Given the description of an element on the screen output the (x, y) to click on. 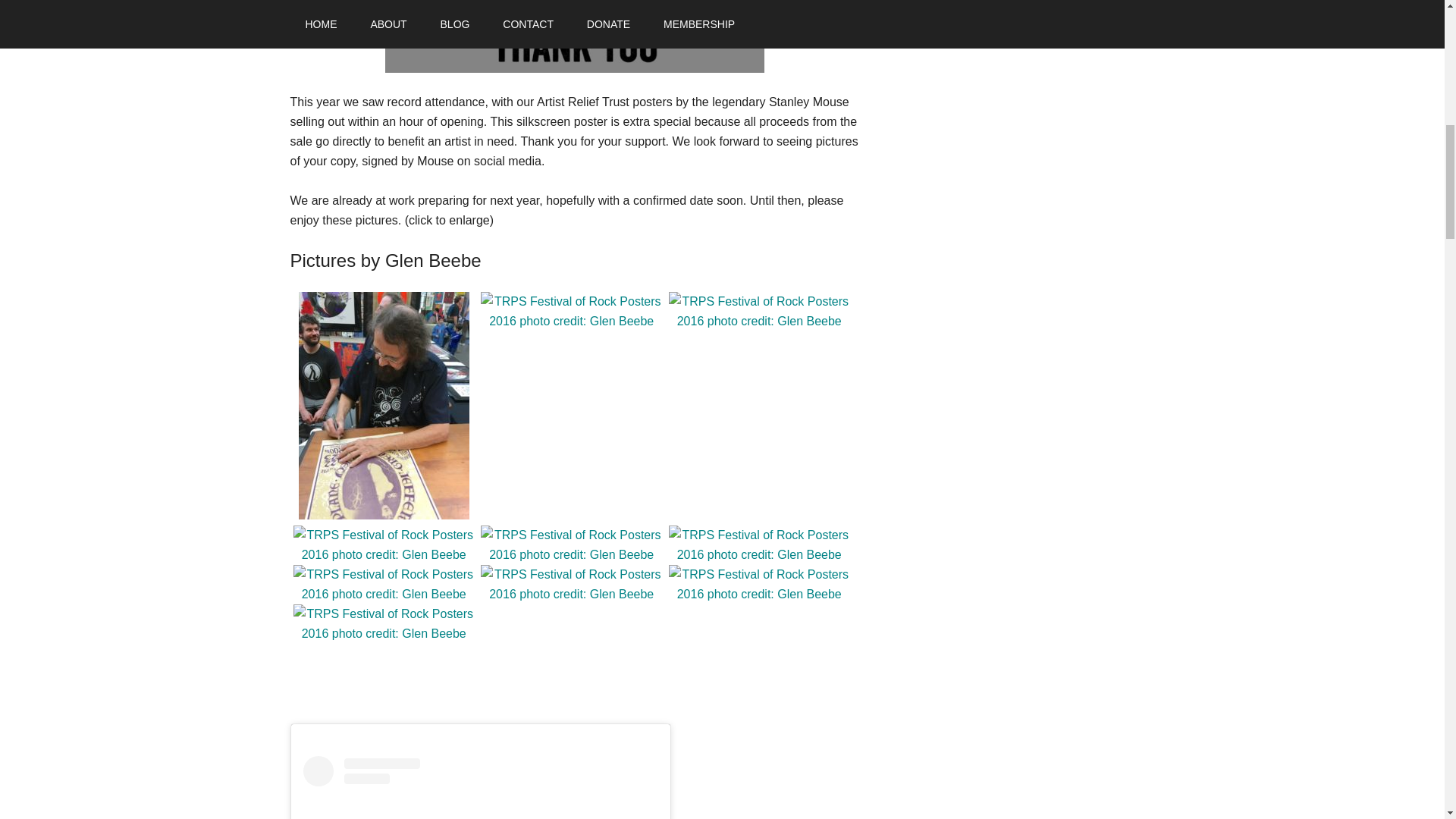
View this post on Instagram (480, 787)
